Given the description of an element on the screen output the (x, y) to click on. 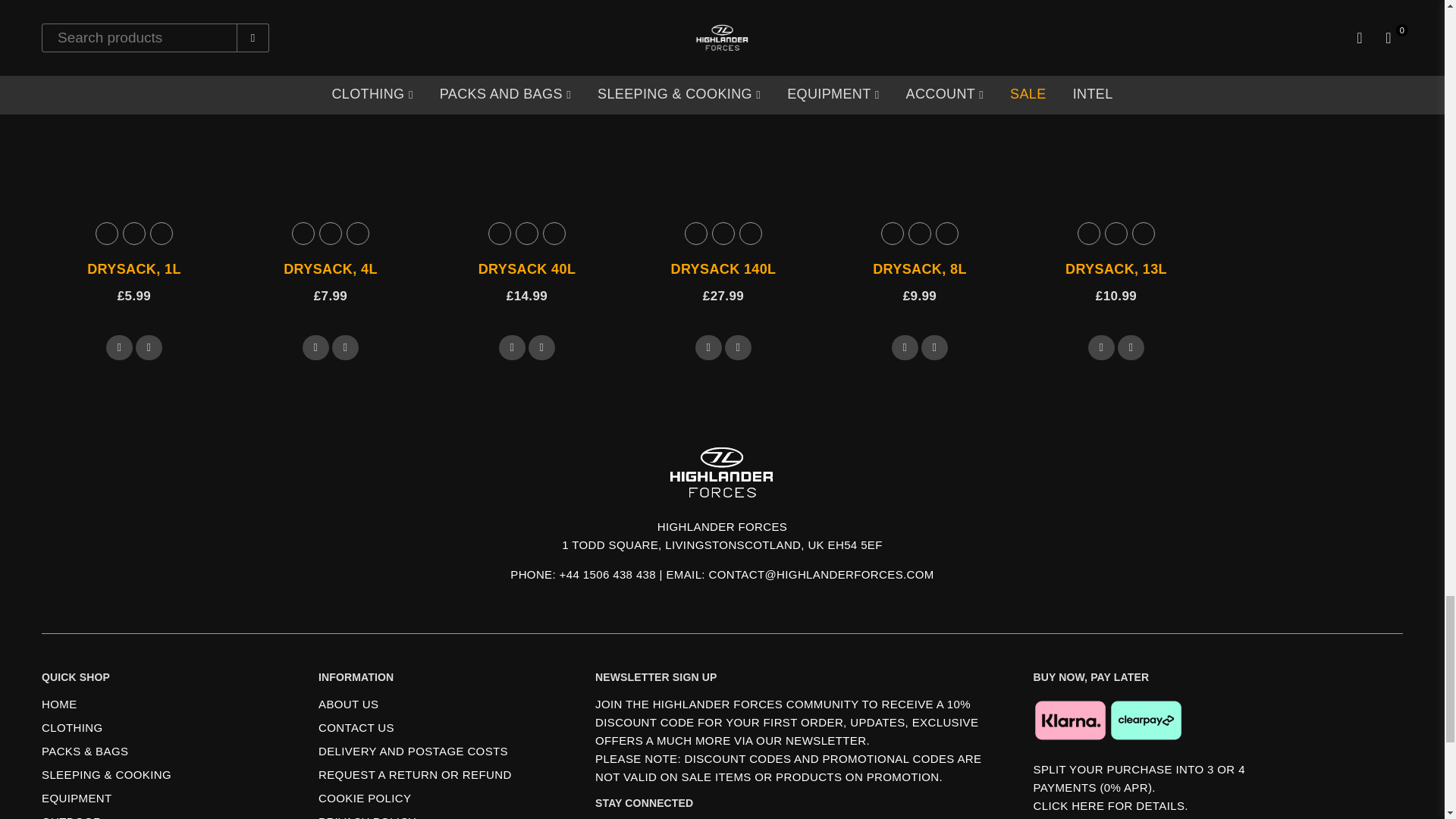
Olive (161, 232)
Lime (133, 232)
Black (106, 232)
